Given the description of an element on the screen output the (x, y) to click on. 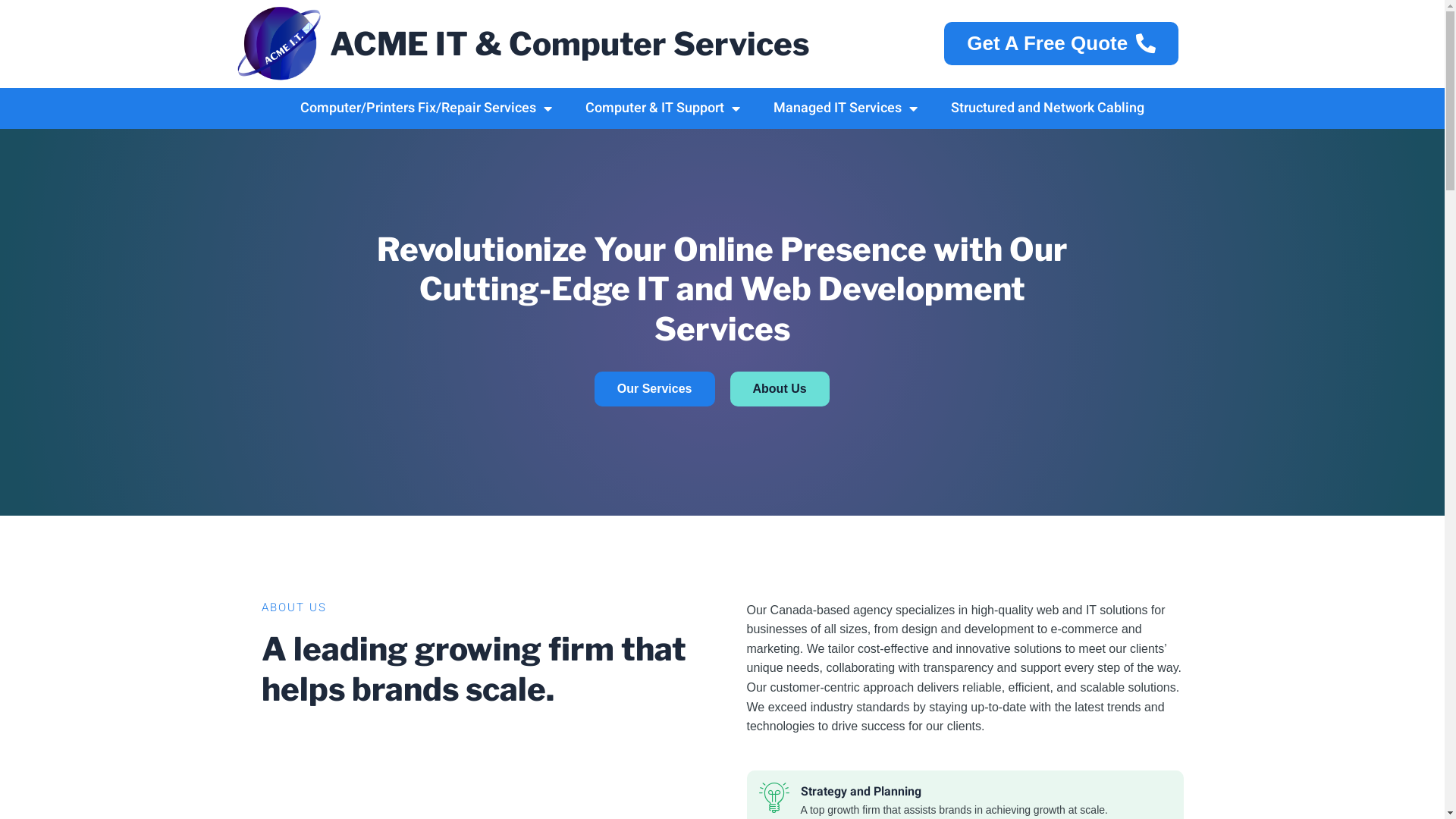
About Us Element type: text (778, 388)
ACME IT & Computer Services Element type: text (569, 43)
Structured and Network Cabling Element type: text (1047, 107)
Computer & IT Support Element type: text (662, 107)
Computer/Printers Fix/Repair Services Element type: text (426, 107)
Managed IT Services Element type: text (845, 107)
Get A Free Quote Element type: text (1061, 43)
Our Services Element type: text (654, 388)
